Given the description of an element on the screen output the (x, y) to click on. 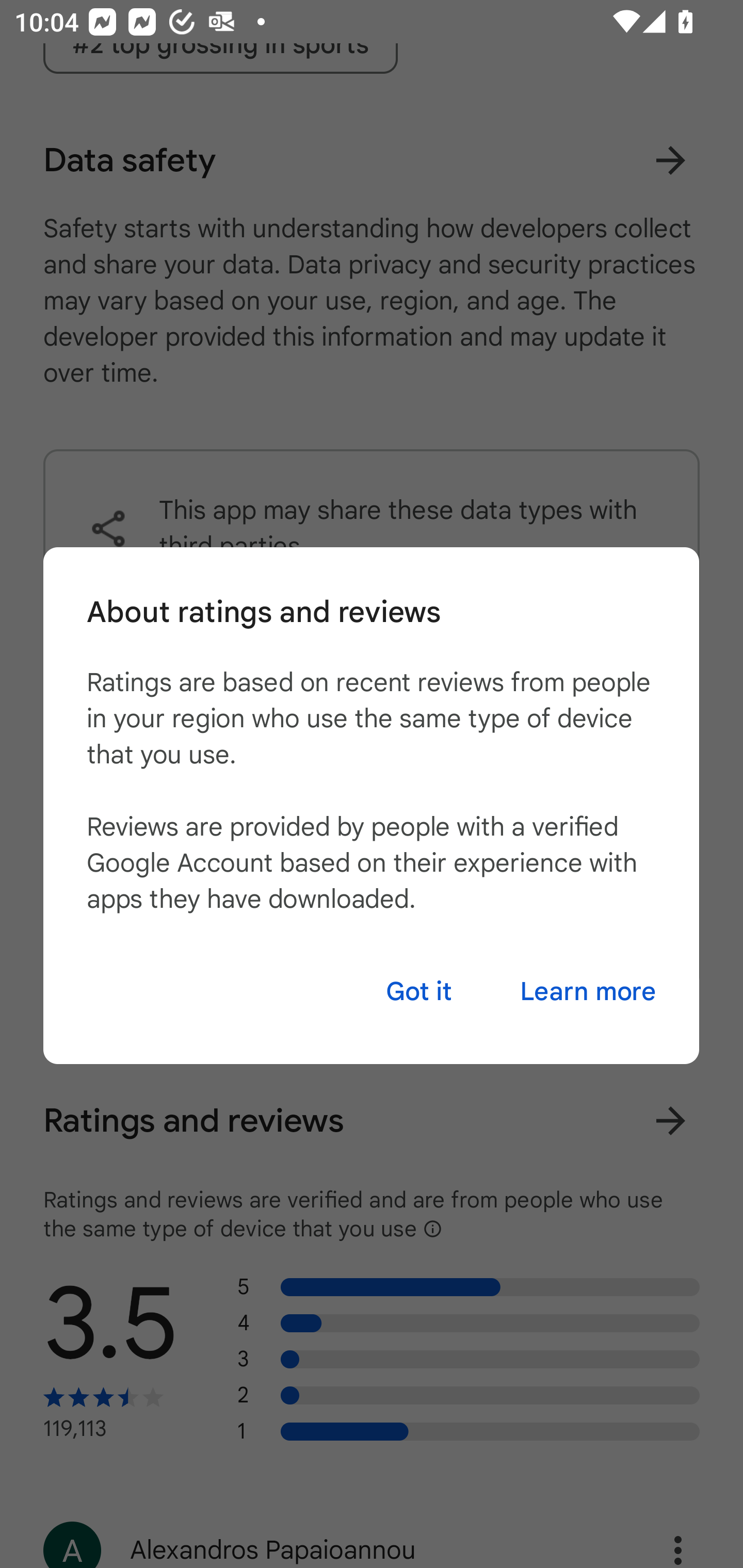
Got it (418, 991)
Learn more (588, 991)
